Given the description of an element on the screen output the (x, y) to click on. 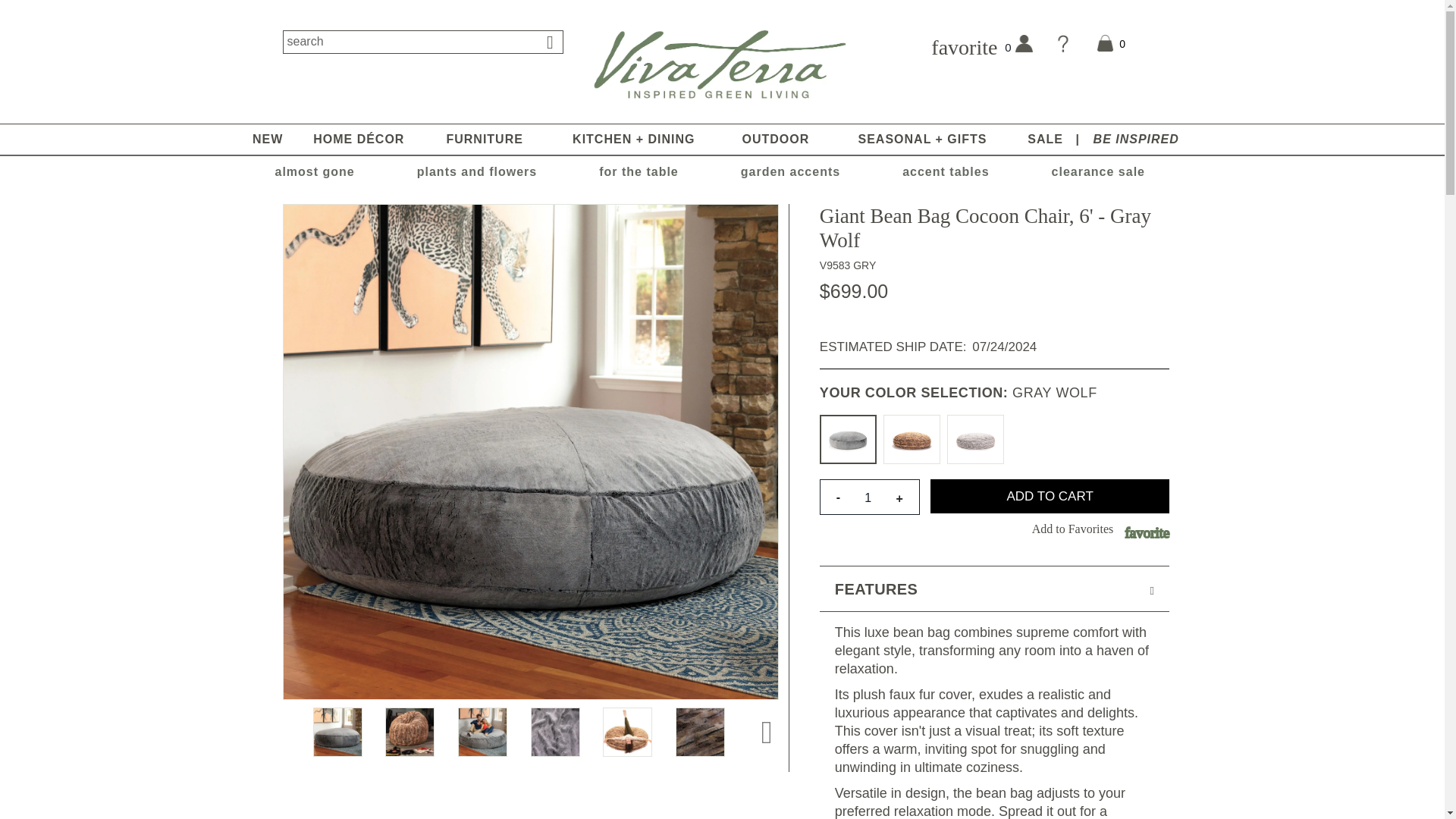
1 (867, 496)
MY ACCOUNT (1027, 48)
NEW (266, 139)
